Given the description of an element on the screen output the (x, y) to click on. 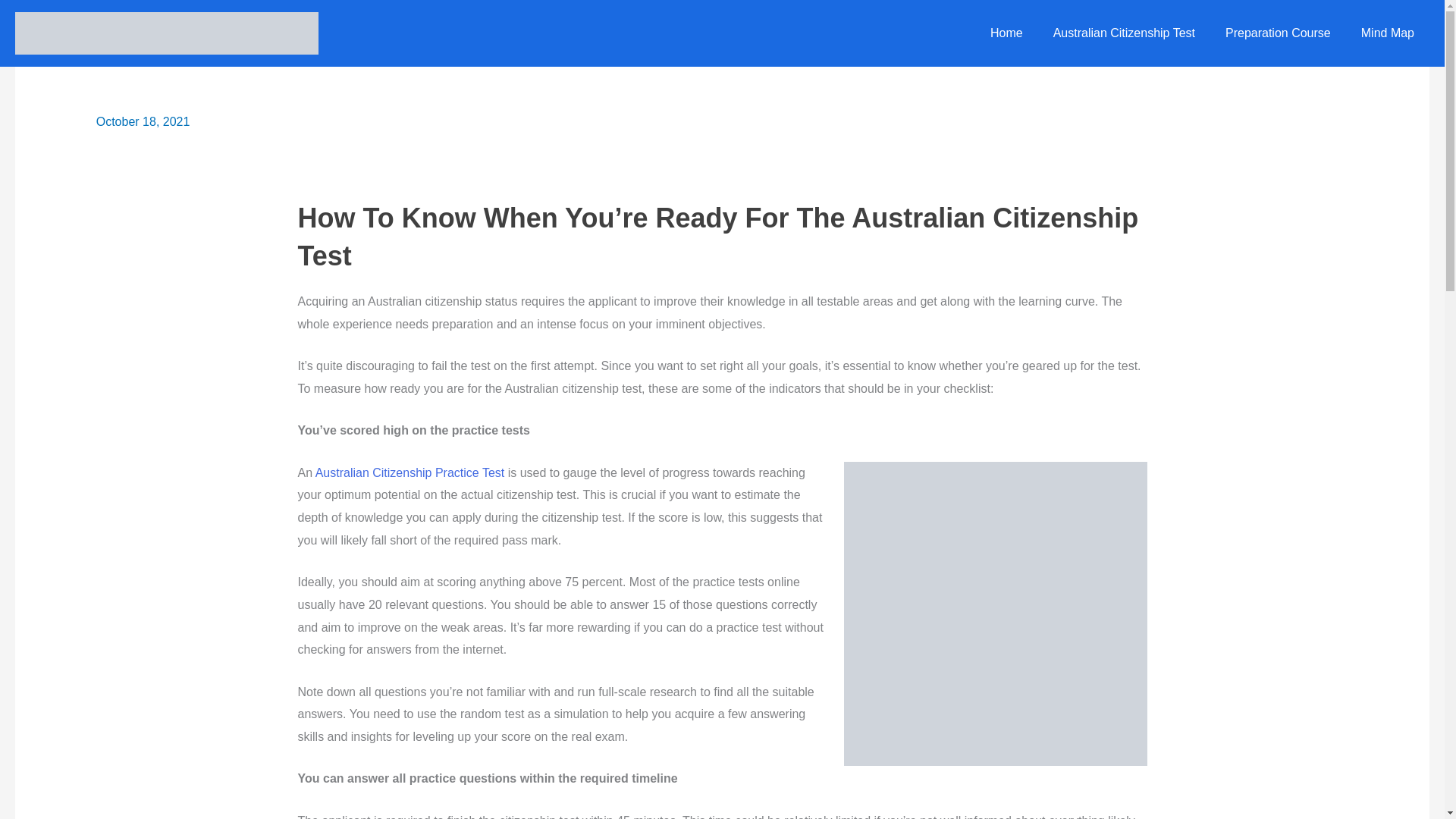
Australian Citizenship Practice Test (410, 472)
Australian Citizenship Test (1123, 33)
Preparation Course (1277, 33)
Home (1006, 33)
Mind Map (1387, 33)
